Given the description of an element on the screen output the (x, y) to click on. 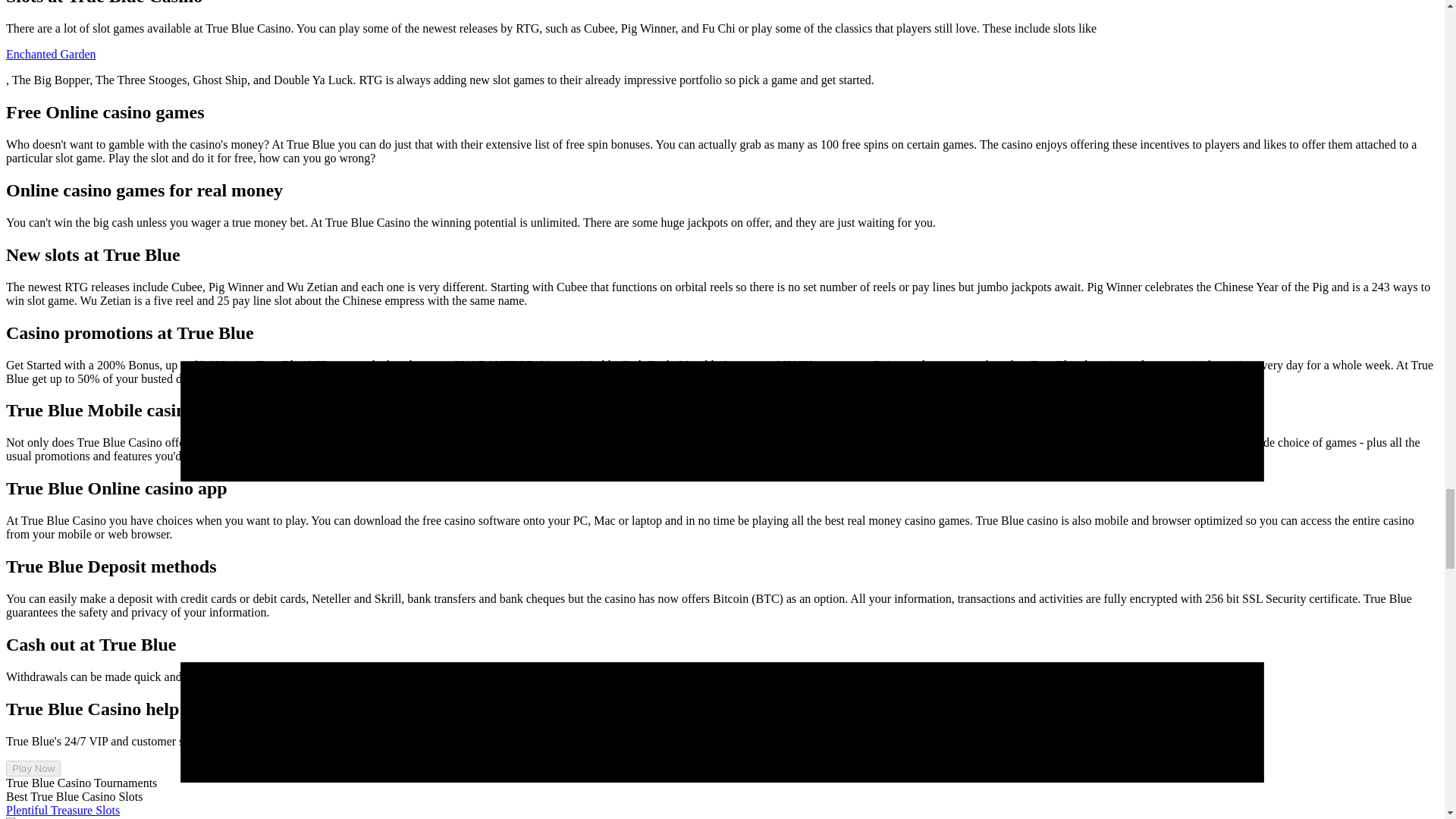
Play Now (33, 768)
Plentiful Treasure Slots (62, 809)
Enchanted Garden (50, 53)
